Given the description of an element on the screen output the (x, y) to click on. 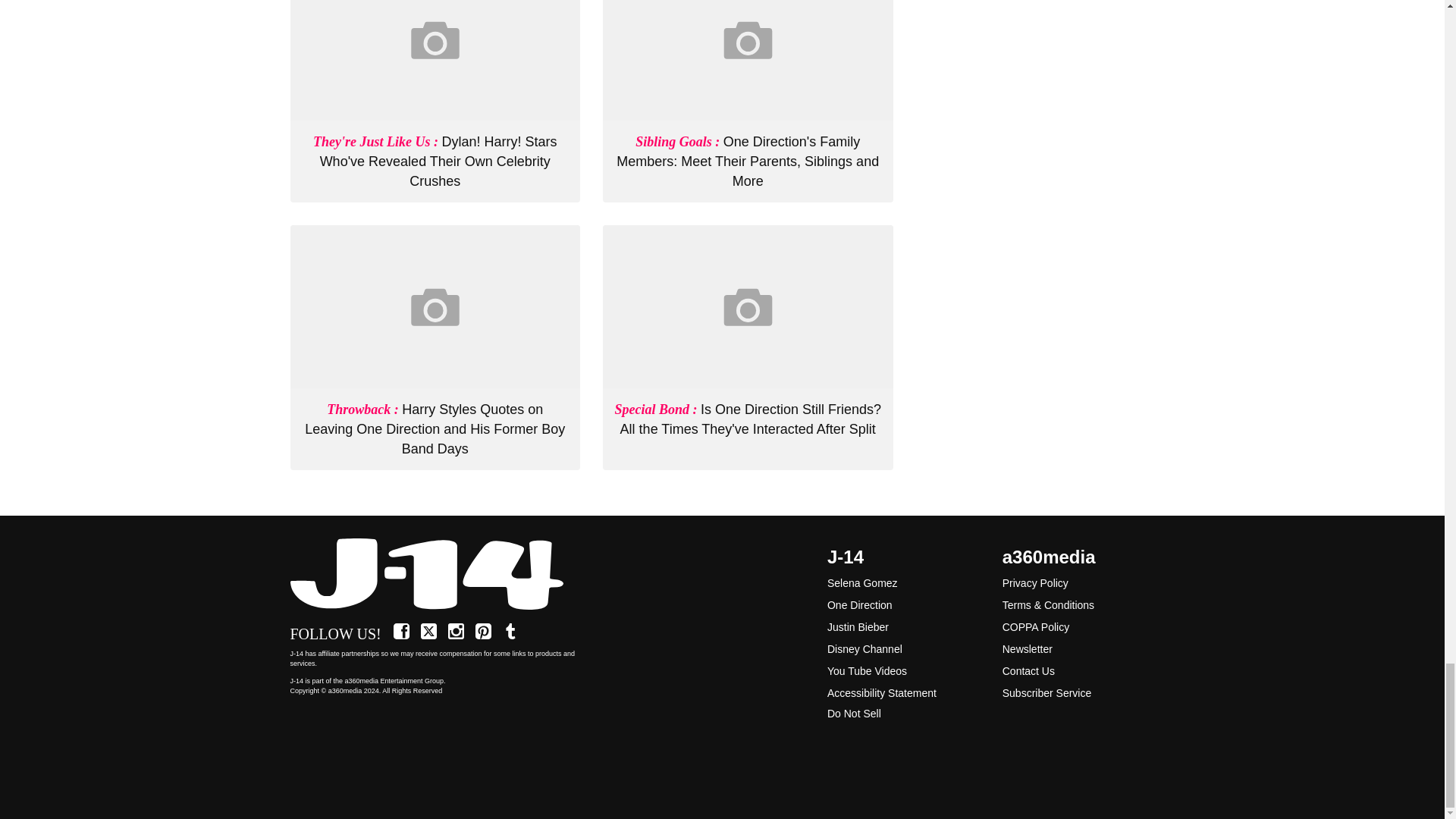
Home (434, 574)
